Given the description of an element on the screen output the (x, y) to click on. 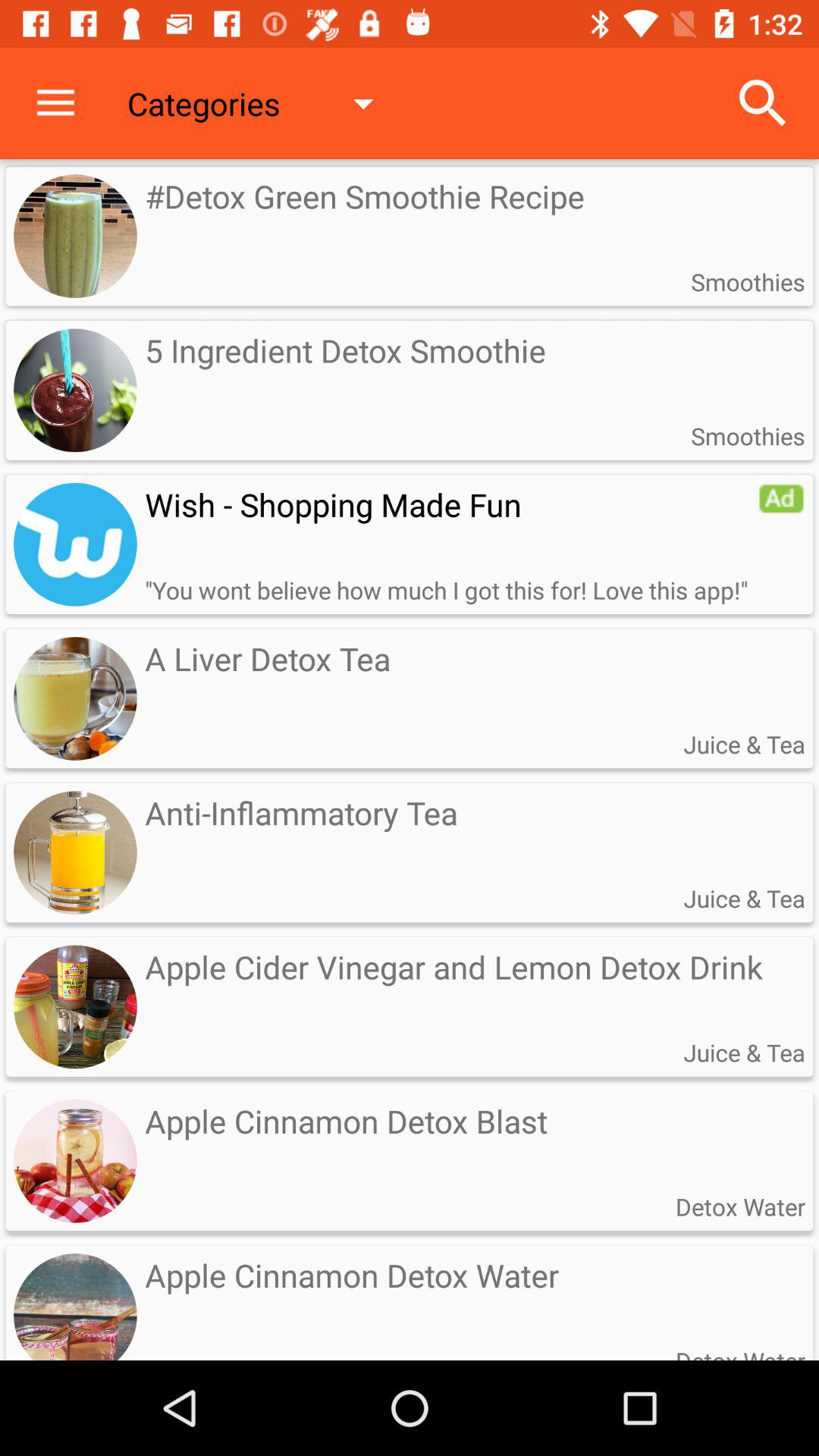
select the icon above you wont believe (451, 504)
